Given the description of an element on the screen output the (x, y) to click on. 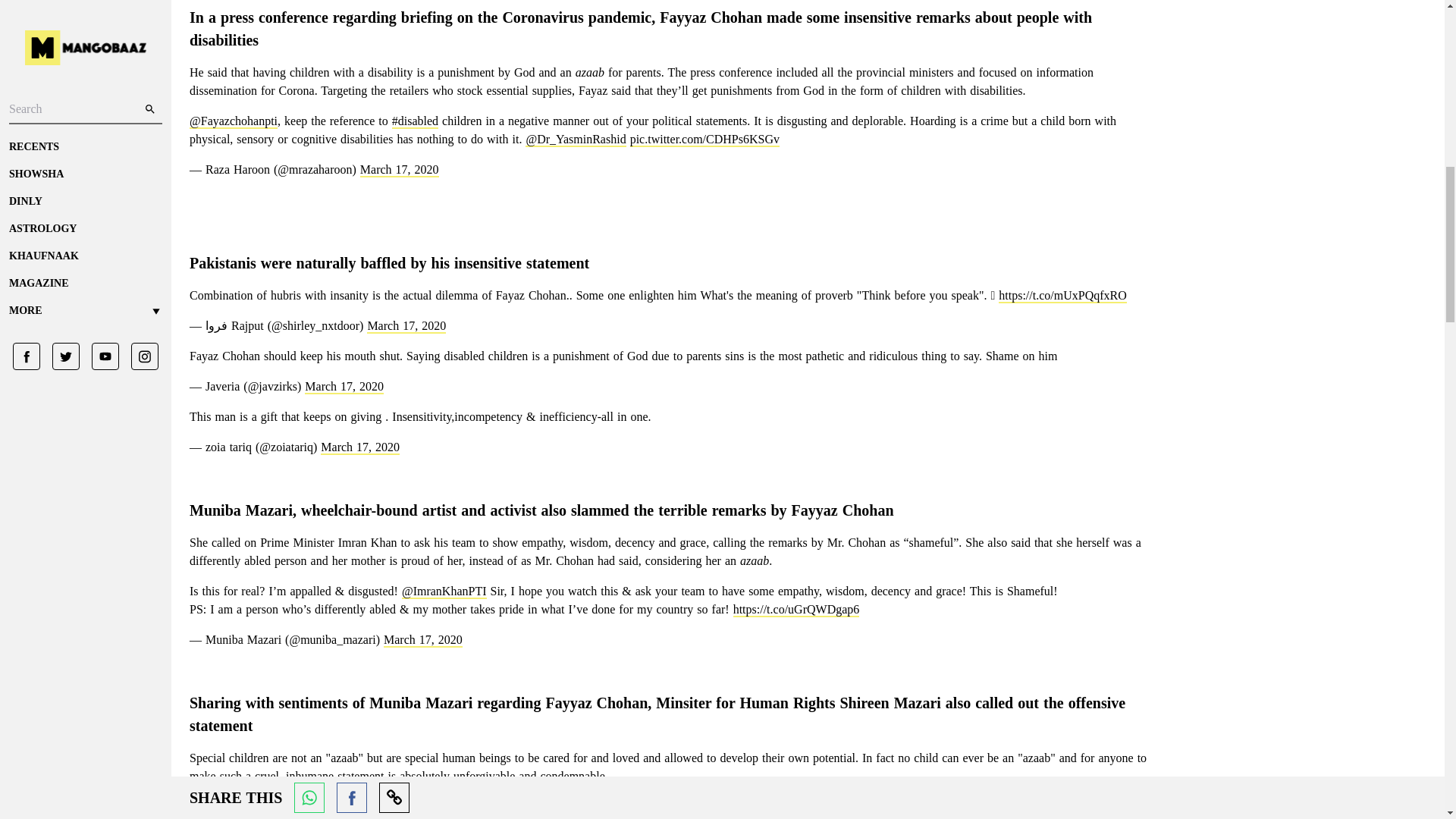
March 17, 2020 (344, 386)
March 17, 2020 (405, 326)
March 17, 2020 (359, 447)
March 17, 2020 (399, 169)
